Given the description of an element on the screen output the (x, y) to click on. 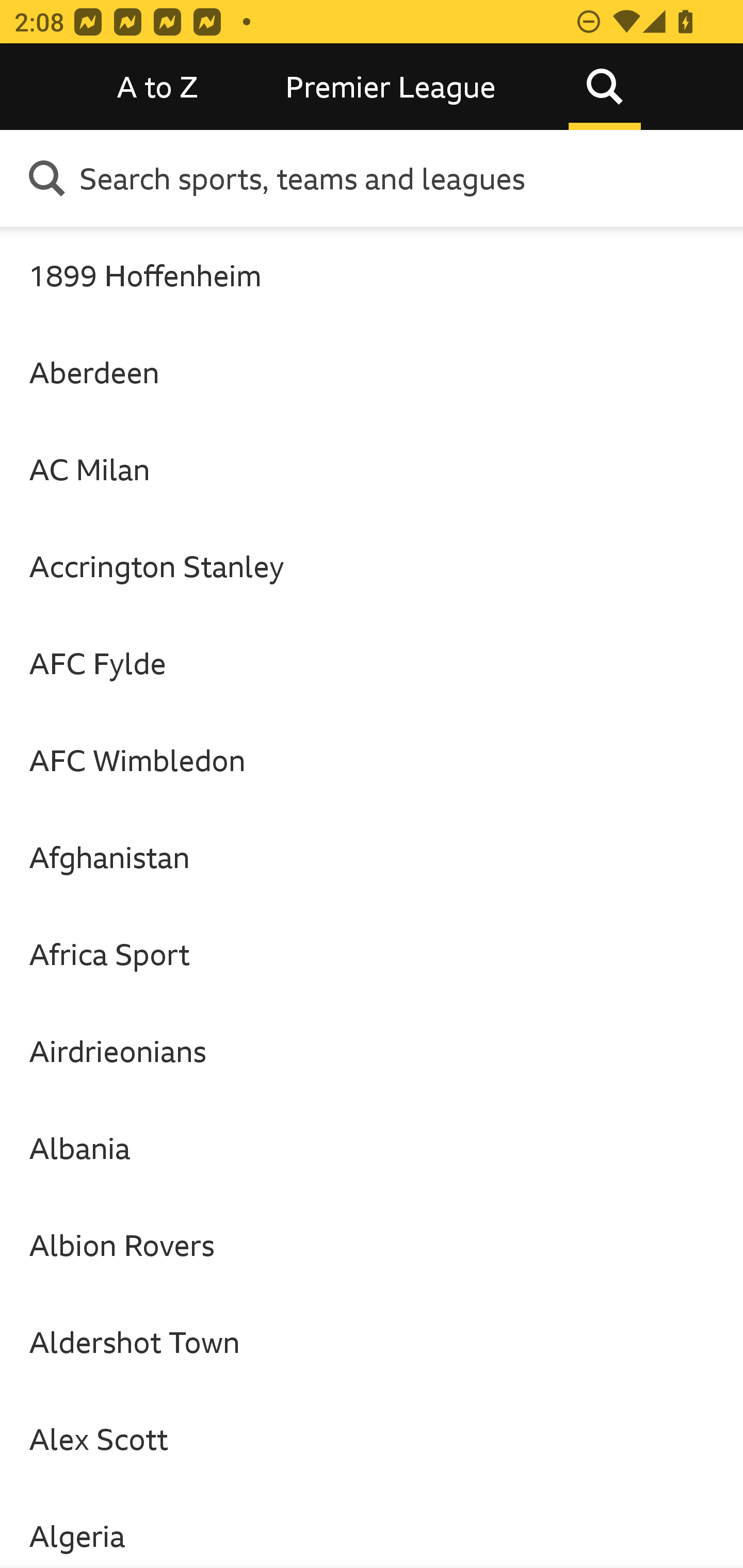
A to Z (157, 86)
Premier League (390, 86)
Search sports, teams and leagues (404, 178)
1899 Hoffenheim (371, 275)
Aberdeen (371, 372)
AC Milan (371, 468)
Accrington Stanley (371, 565)
AFC Fylde (371, 662)
AFC Wimbledon (371, 760)
Afghanistan (371, 857)
Africa Sport (371, 953)
Airdrieonians (371, 1050)
Albania (371, 1147)
Albion Rovers (371, 1244)
Aldershot Town (371, 1341)
Alex Scott (371, 1439)
Algeria (371, 1528)
